Given the description of an element on the screen output the (x, y) to click on. 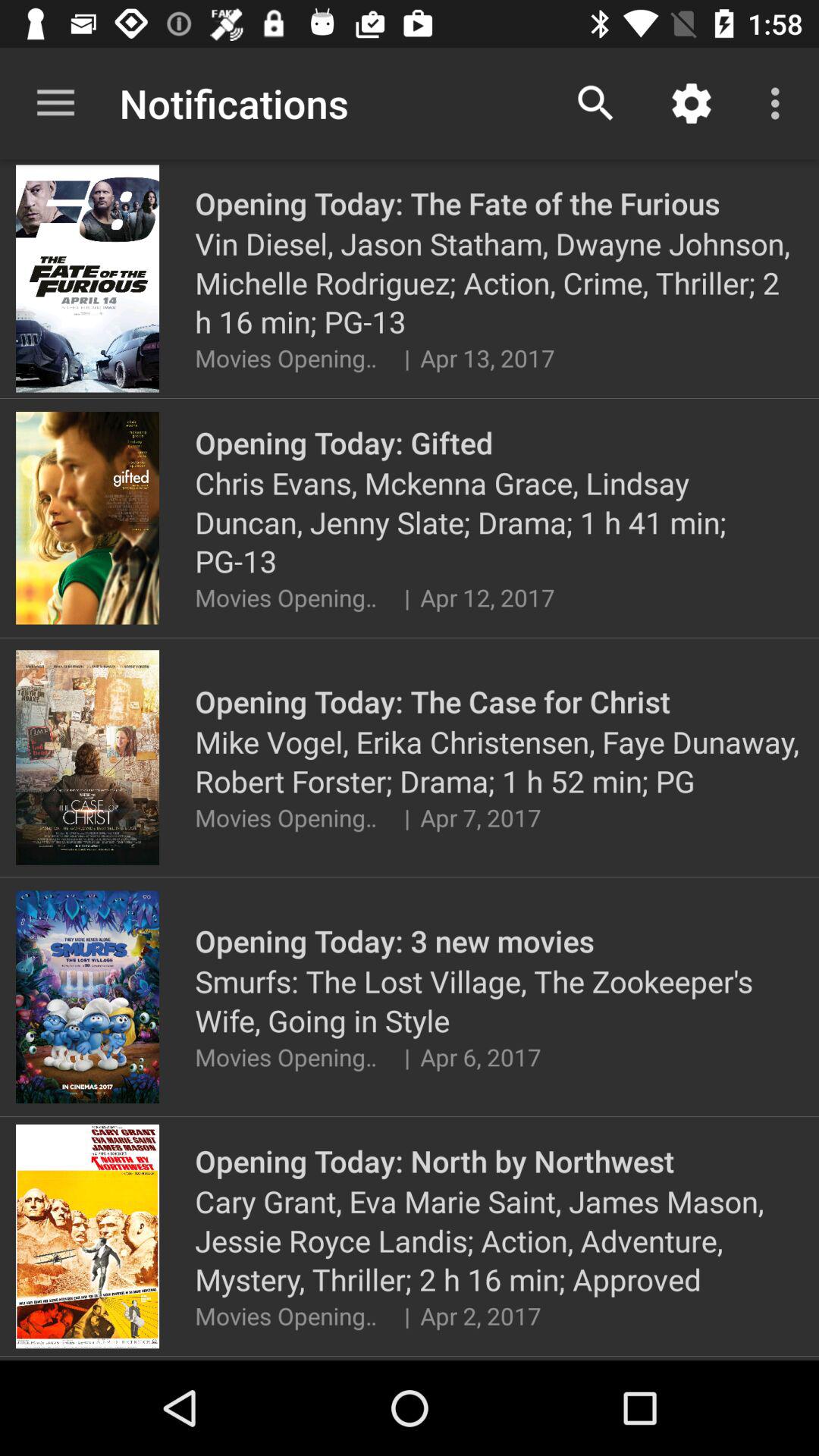
select item below vin diesel jason (407, 357)
